Given the description of an element on the screen output the (x, y) to click on. 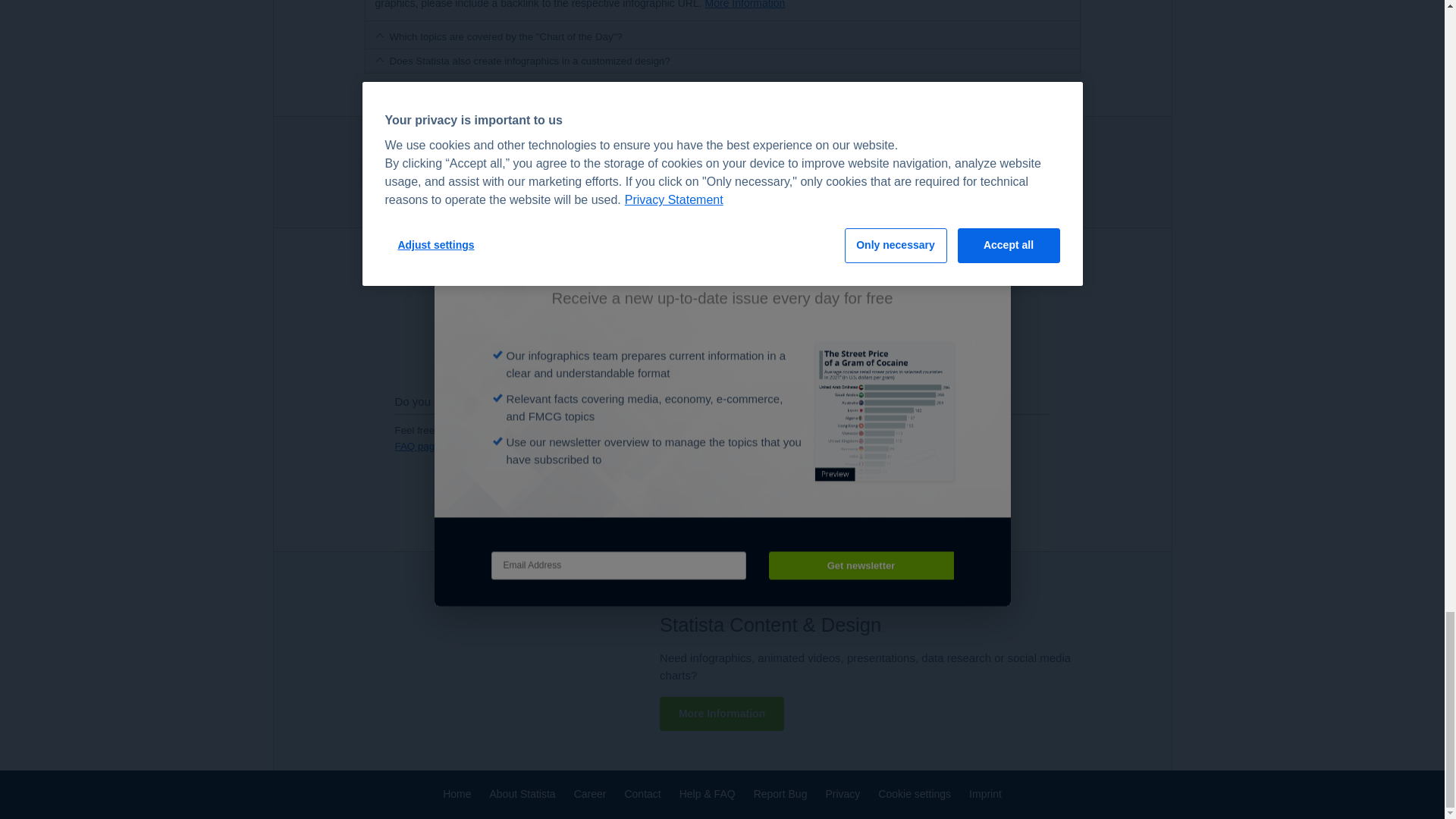
Statista Search (1032, 171)
